Given the description of an element on the screen output the (x, y) to click on. 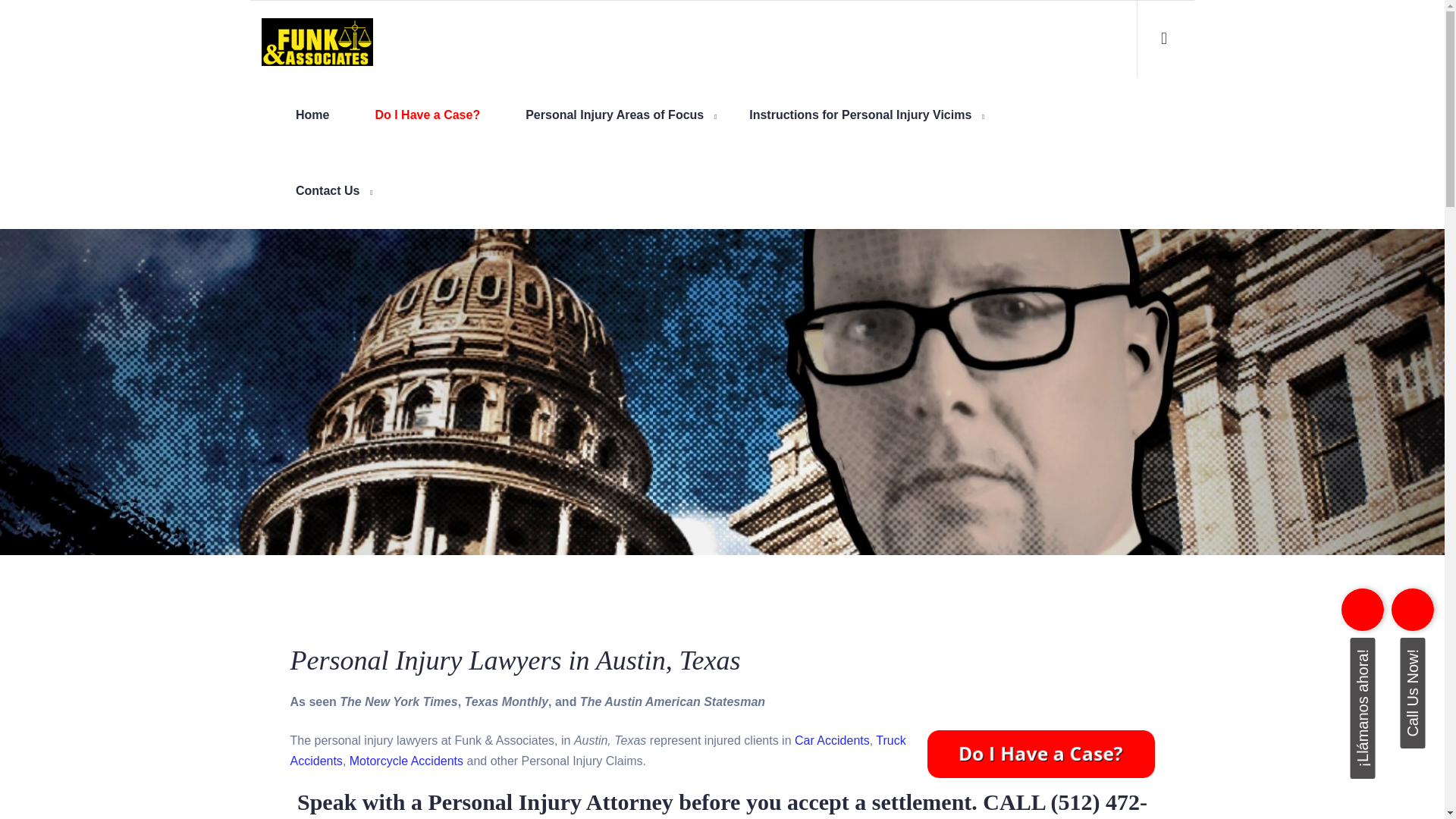
Contact Us (327, 191)
Accident Lawyer Austin (614, 114)
Home (312, 114)
Personal Injury Areas of Focus (614, 114)
Do I Have a Case? (427, 114)
Instructions for Personal Injury Vicims (860, 114)
